Given the description of an element on the screen output the (x, y) to click on. 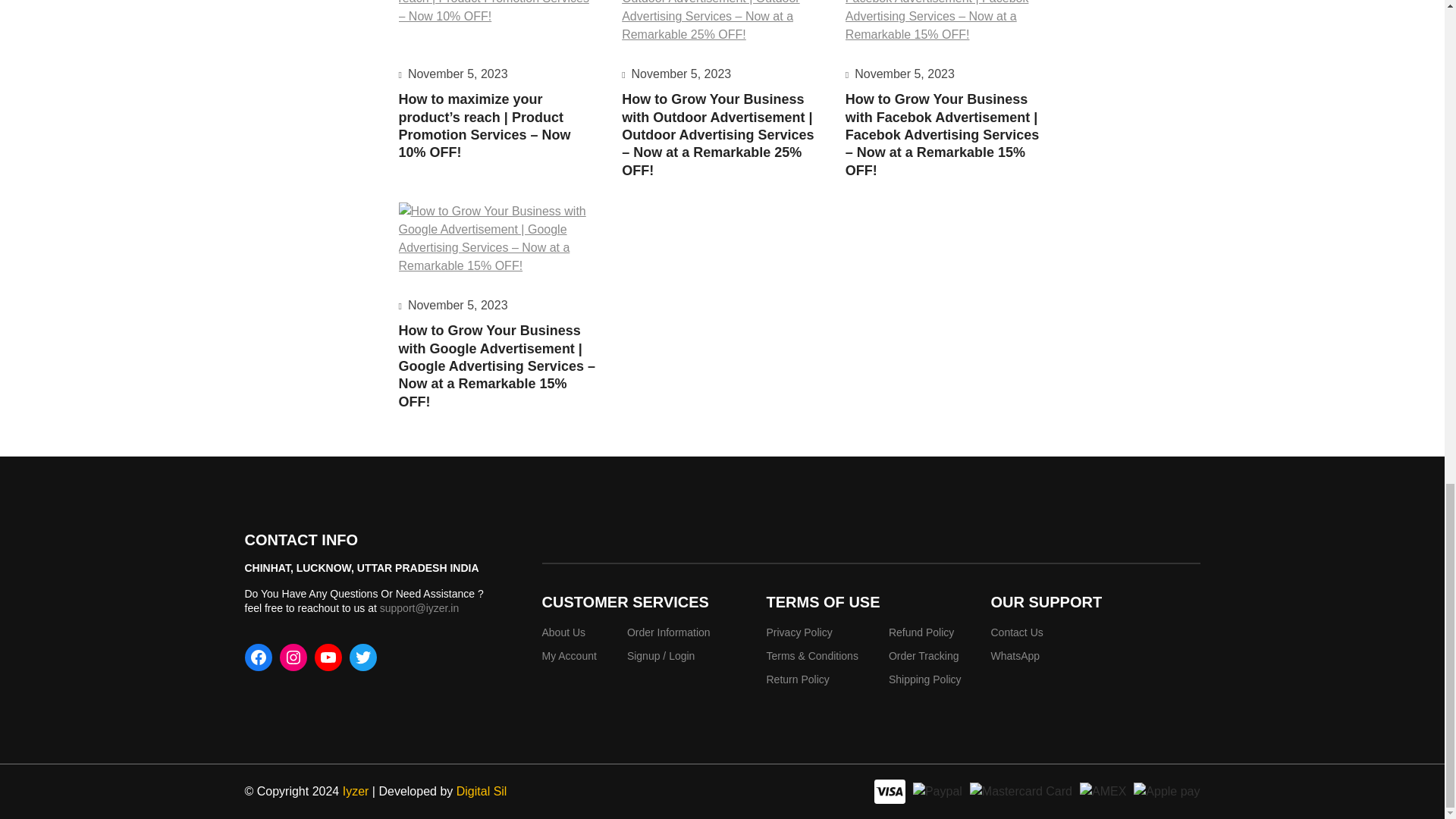
My Account (568, 655)
Facebook (257, 656)
Twitter (362, 656)
About Us (563, 632)
Order Information (668, 632)
Privacy Policy (798, 632)
YouTube (327, 656)
Instagram (292, 656)
